Given the description of an element on the screen output the (x, y) to click on. 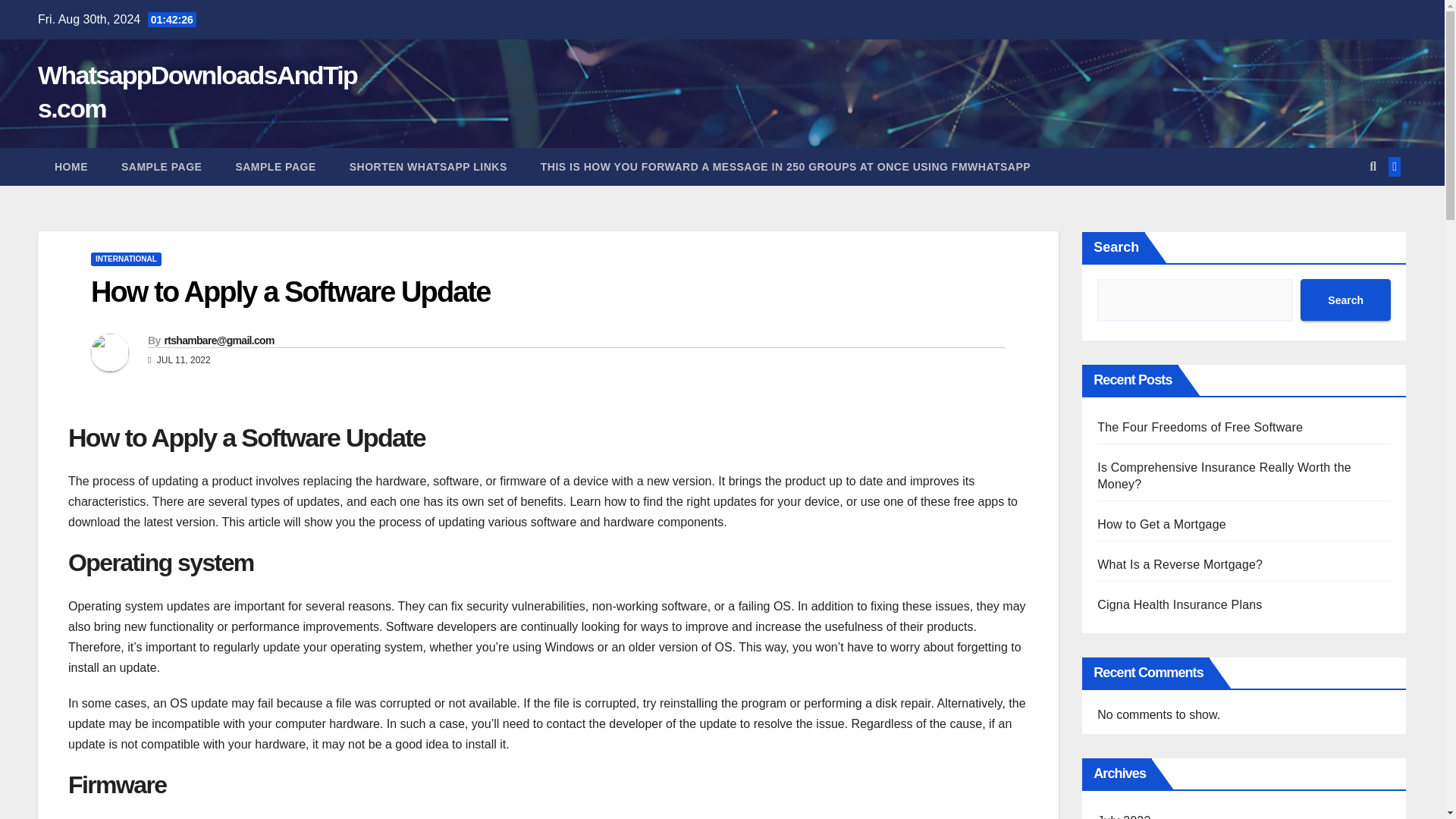
How to Apply a Software Update (289, 291)
INTERNATIONAL (125, 259)
Permalink to: How to Apply a Software Update (289, 291)
HOME (70, 166)
Home (70, 166)
SAMPLE PAGE (274, 166)
WhatsappDownloadsAndTips.com (196, 91)
SHORTEN WHATSAPP LINKS (428, 166)
SAMPLE PAGE (161, 166)
